Given the description of an element on the screen output the (x, y) to click on. 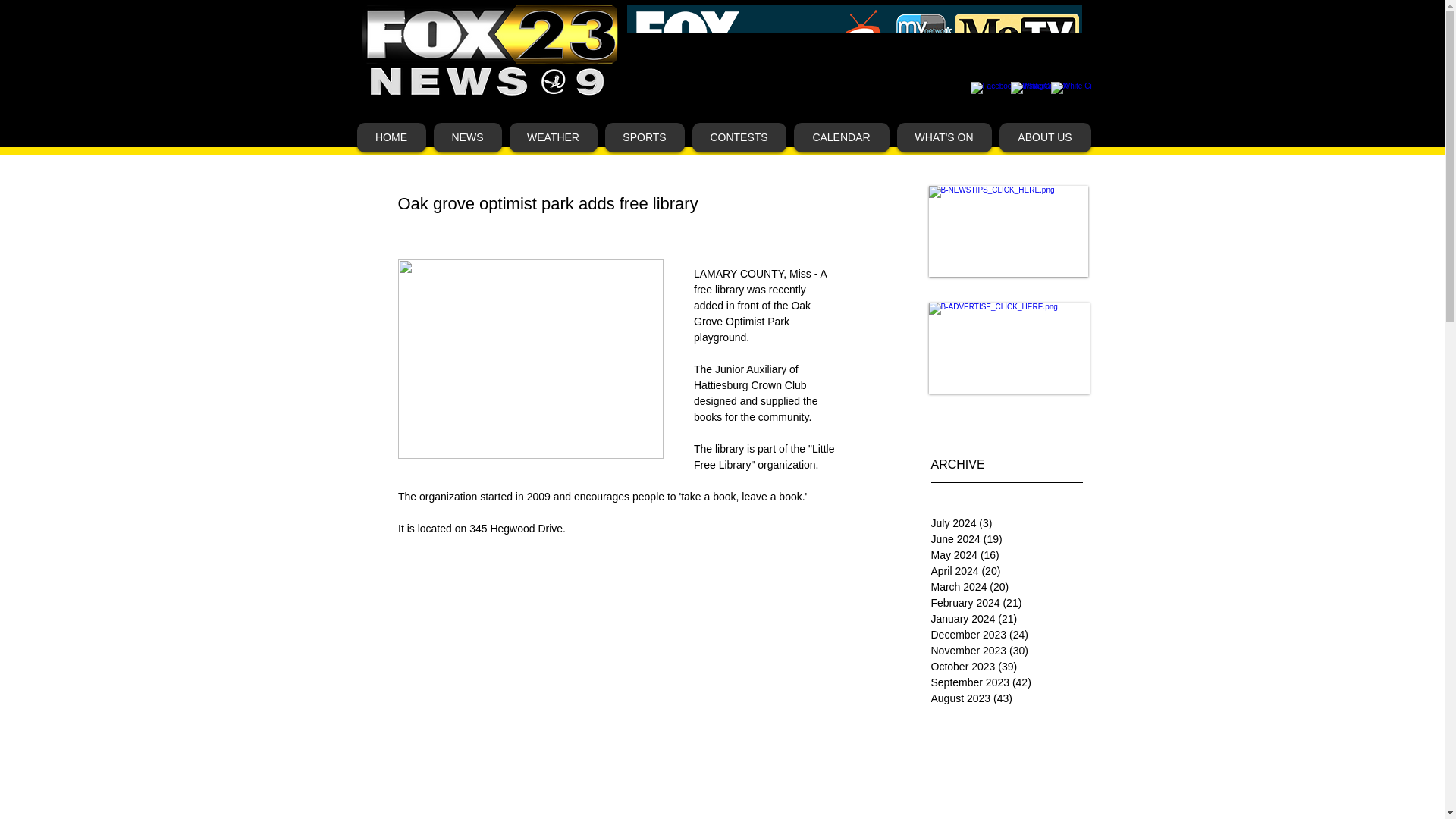
WEATHER (552, 137)
CALENDAR (840, 137)
HOME (390, 137)
